Given the description of an element on the screen output the (x, y) to click on. 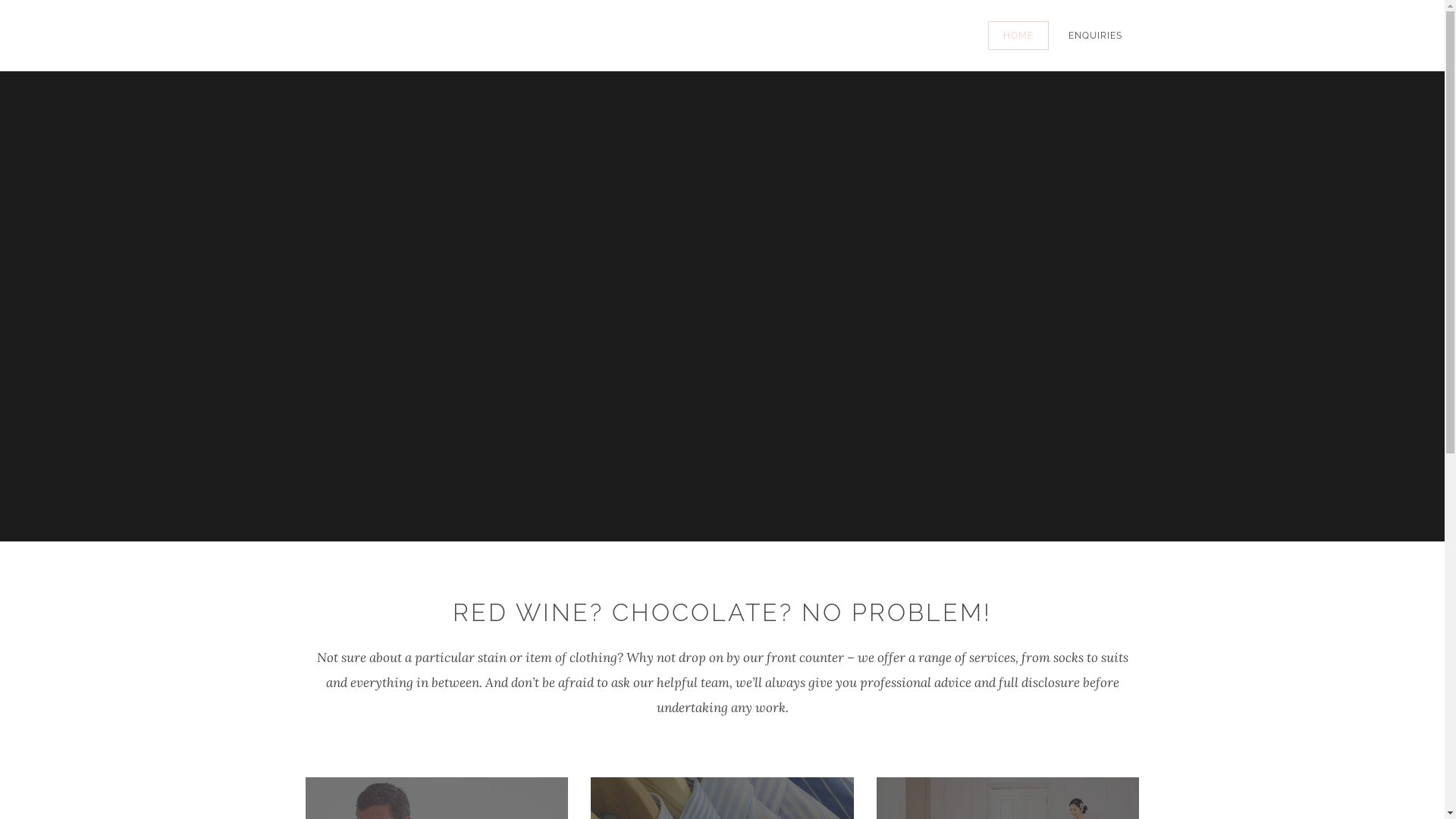
HOME Element type: text (1017, 35)
ENQUIRIES Element type: text (1094, 35)
